Given the description of an element on the screen output the (x, y) to click on. 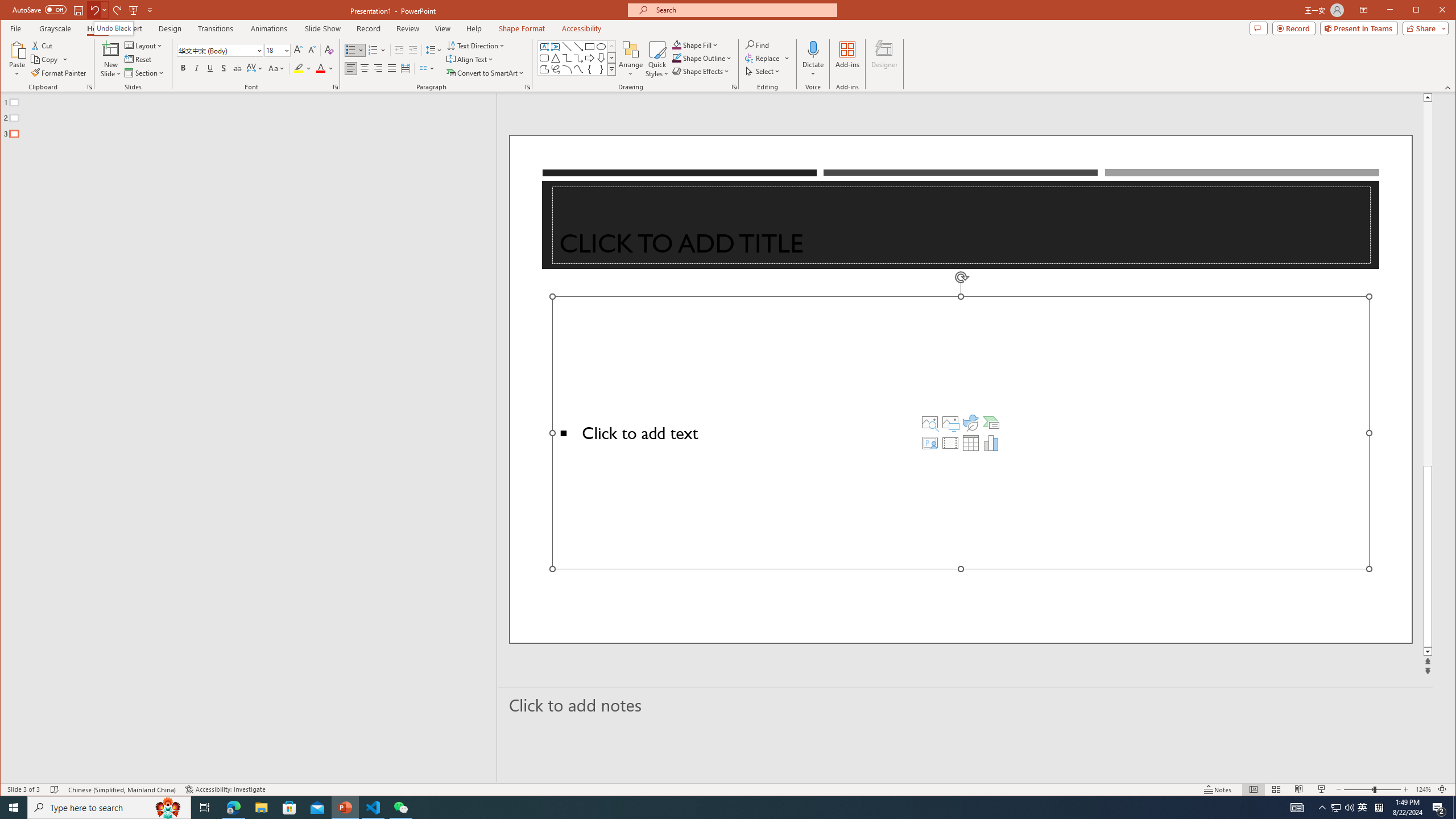
Quick Styles (658, 59)
Connector: Elbow (567, 57)
AutomationID: ShapesInsertGallery (577, 57)
Find... (758, 44)
Align Text (470, 59)
Right Brace (601, 69)
Font... (335, 86)
Align Right (377, 68)
Select (763, 70)
Line Arrow (577, 46)
Strikethrough (237, 68)
Isosceles Triangle (556, 57)
Text Highlight Color (302, 68)
